Given the description of an element on the screen output the (x, y) to click on. 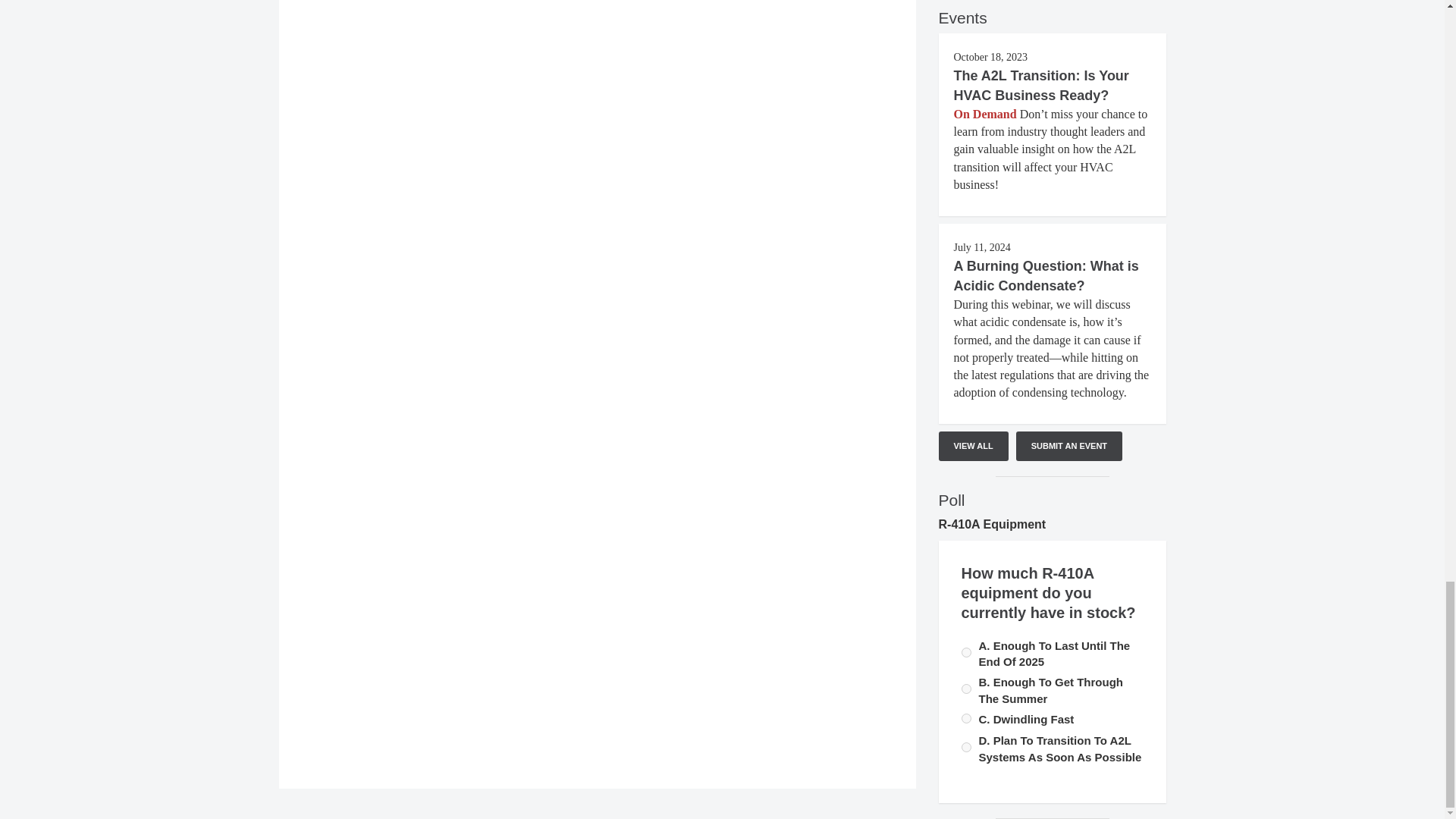
597 (965, 652)
596 (965, 688)
598 (965, 718)
A Burning Question: What is Acidic Condensate? (1045, 275)
The A2L Transition: Is Your HVAC Business Ready? (1041, 85)
599 (965, 747)
